Given the description of an element on the screen output the (x, y) to click on. 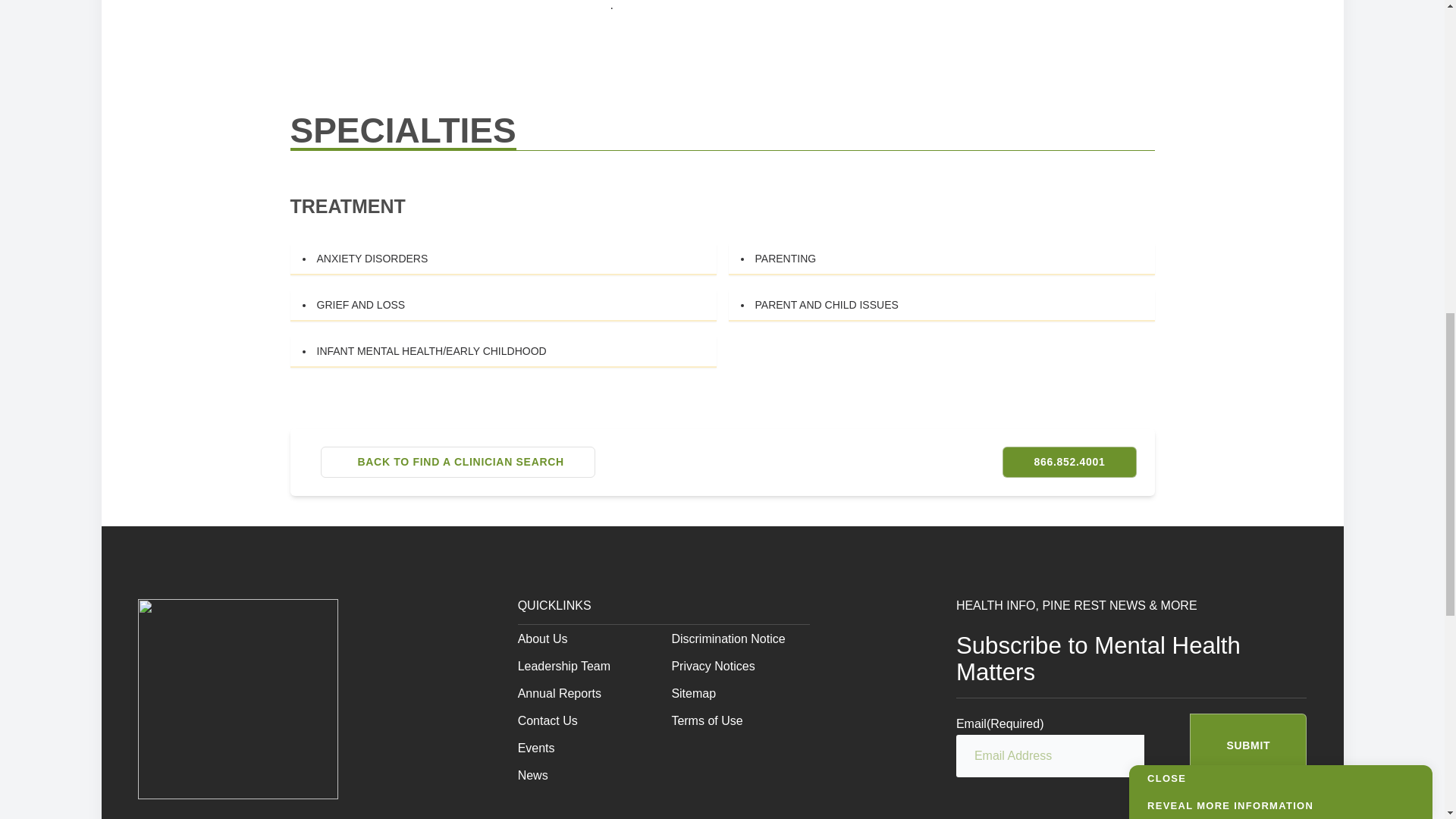
Submit (1247, 745)
